Given the description of an element on the screen output the (x, y) to click on. 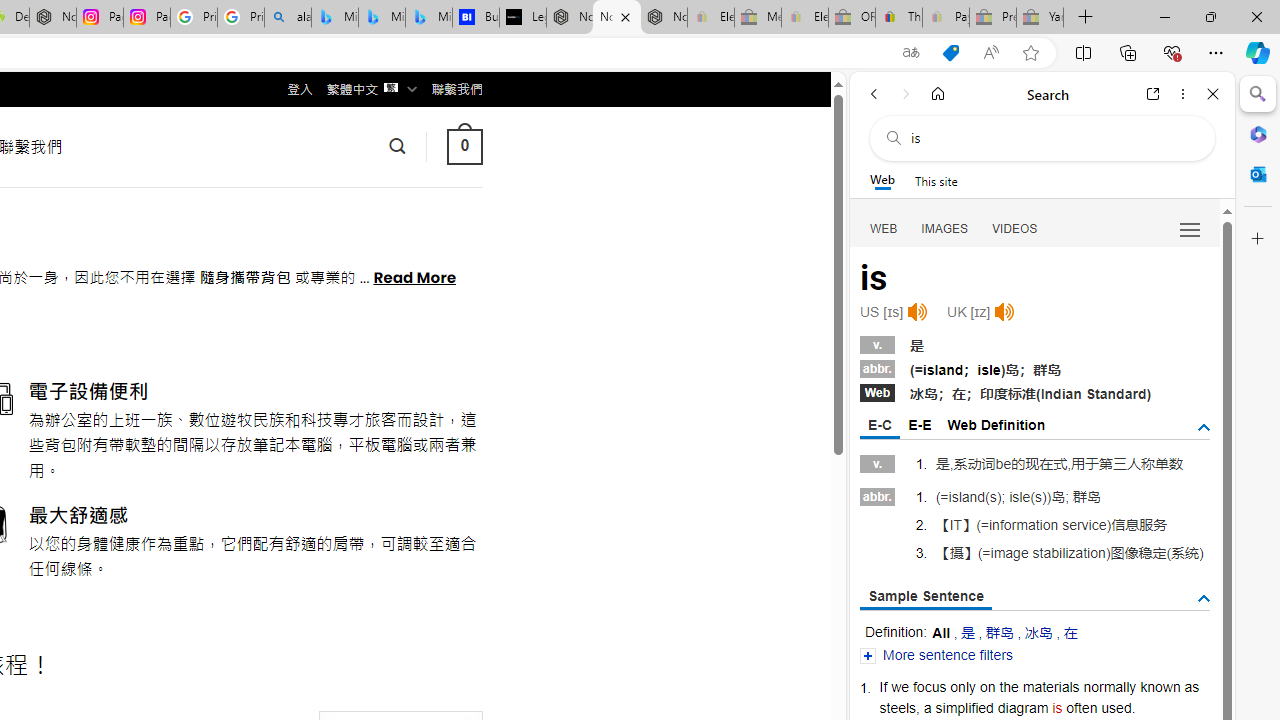
only (962, 686)
diagram (1023, 707)
often (1082, 707)
